Given the description of an element on the screen output the (x, y) to click on. 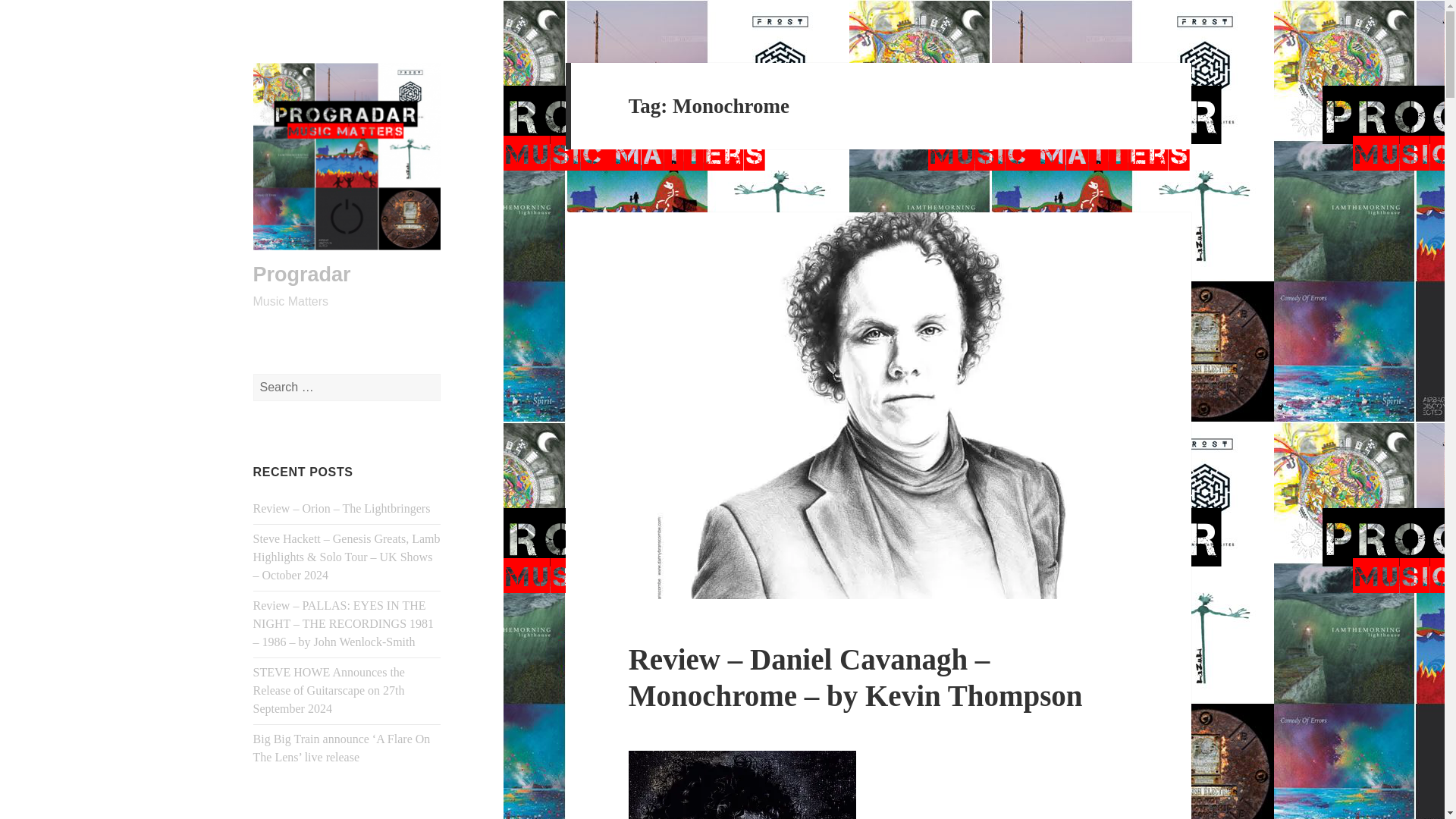
Progradar (301, 273)
